Given the description of an element on the screen output the (x, y) to click on. 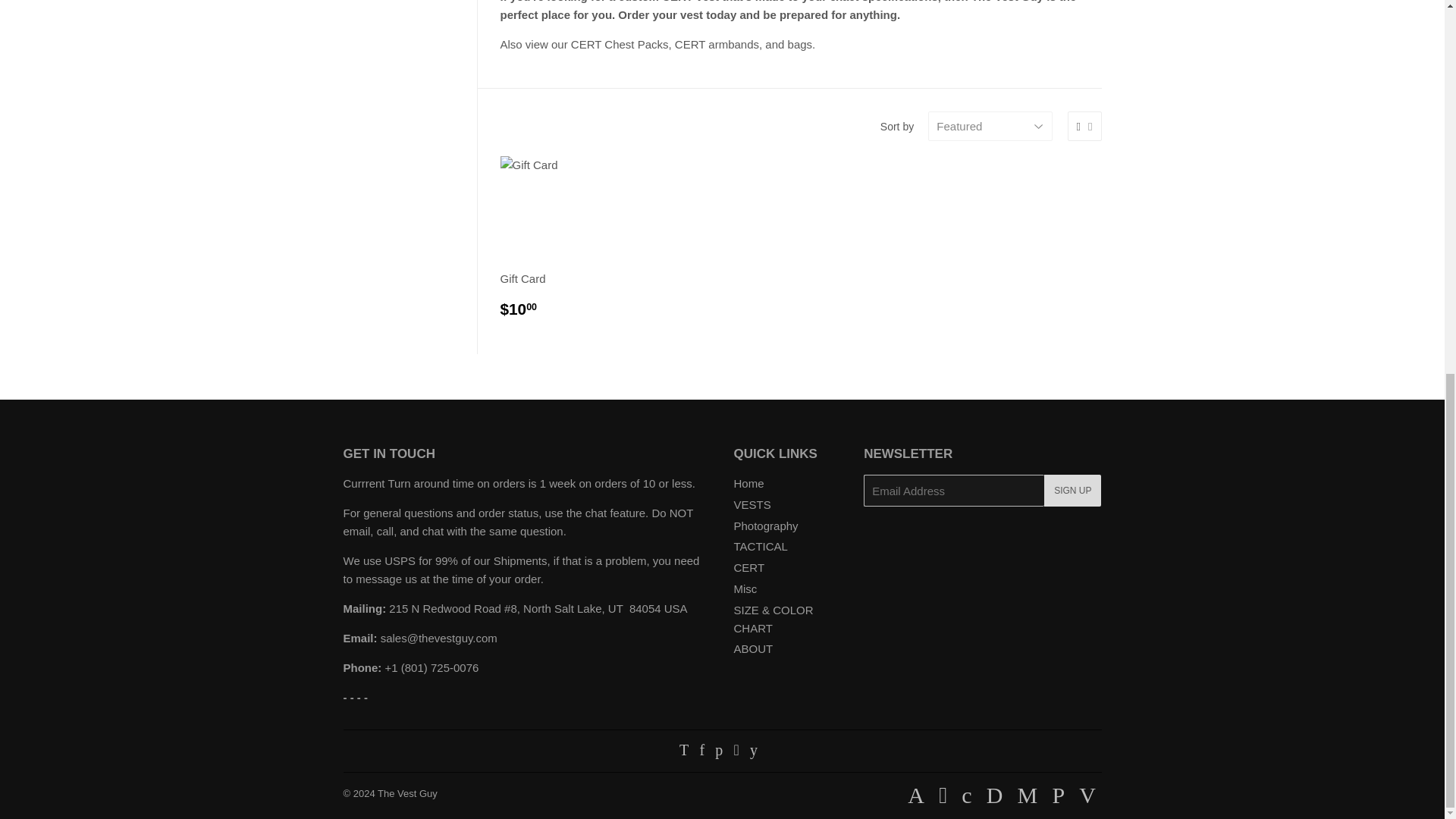
The Vest Guy on Twitter (683, 750)
The Vest Guy on YouTube (753, 750)
The Vest Guy on Instagram (735, 750)
The Vest Guy on Pinterest (718, 750)
The Vest Guy on Facebook (701, 750)
List view (1089, 126)
Grid view (1078, 126)
